Given the description of an element on the screen output the (x, y) to click on. 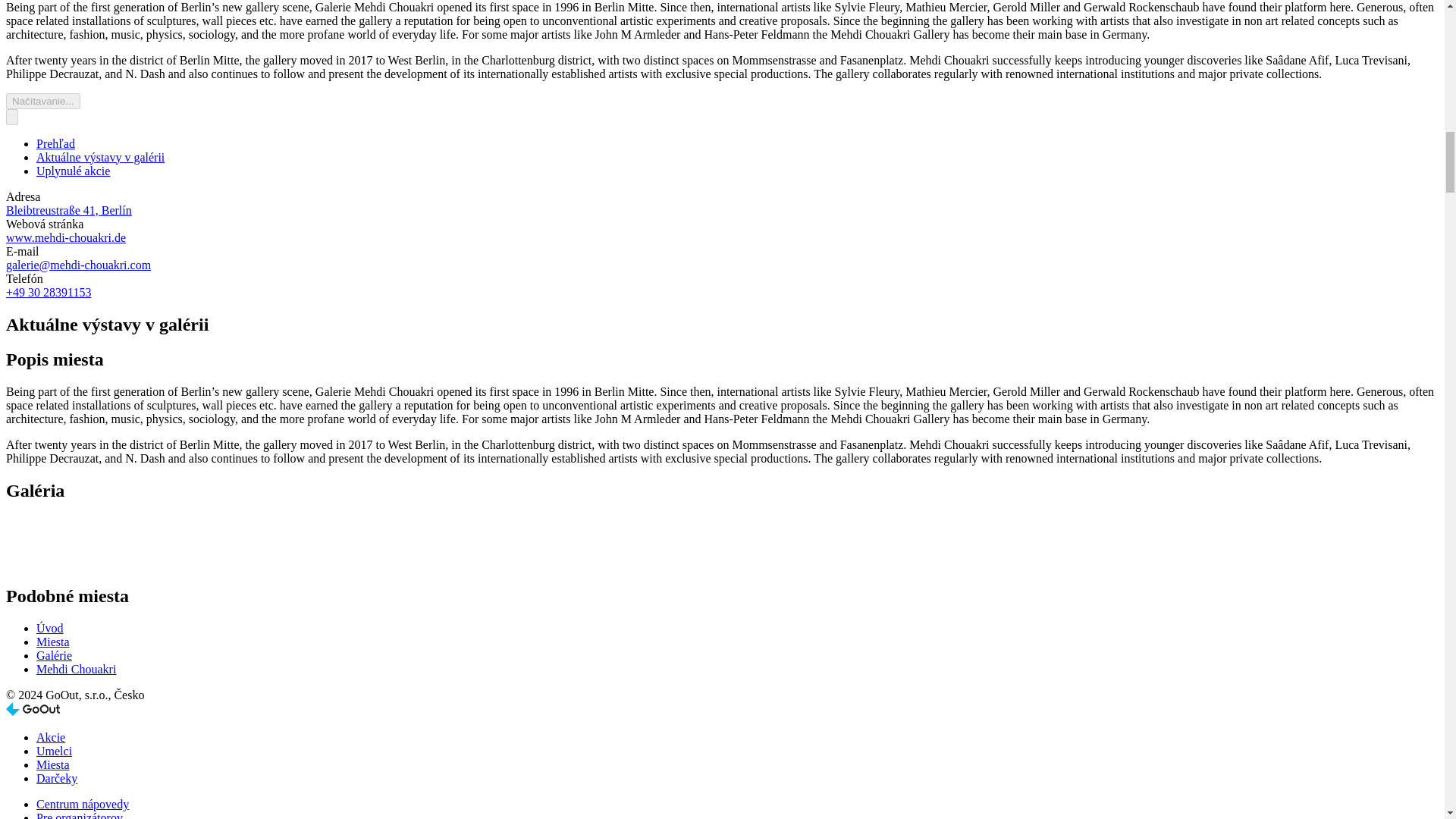
Umelci (53, 750)
www.mehdi-chouakri.de (65, 237)
Miesta (52, 641)
Miesta (52, 764)
Mehdi Chouakri (76, 668)
Akcie (50, 737)
